Given the description of an element on the screen output the (x, y) to click on. 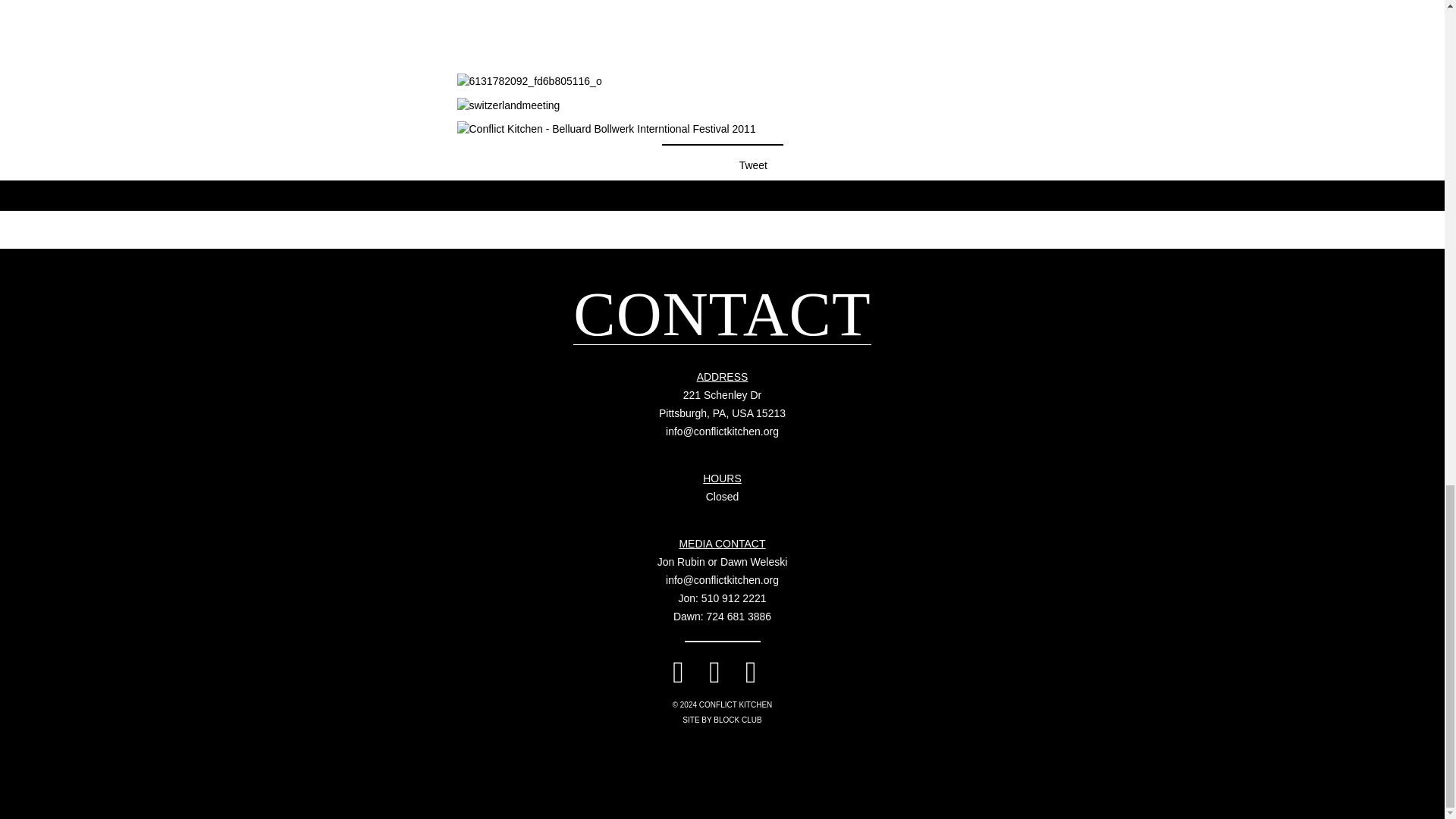
Tweet (753, 164)
BLOCK CLUB (722, 404)
